Given the description of an element on the screen output the (x, y) to click on. 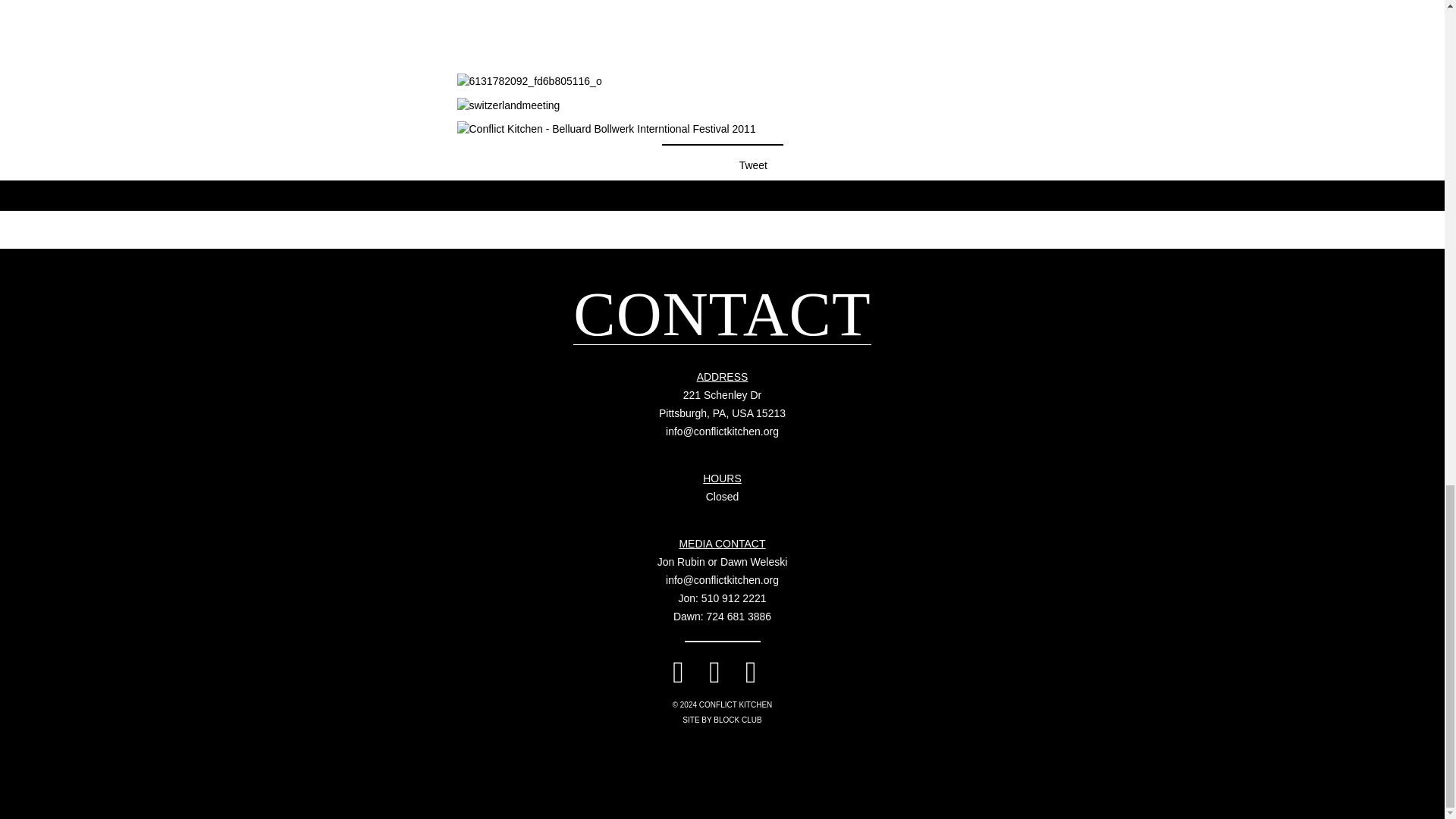
Tweet (753, 164)
BLOCK CLUB (722, 404)
